Given the description of an element on the screen output the (x, y) to click on. 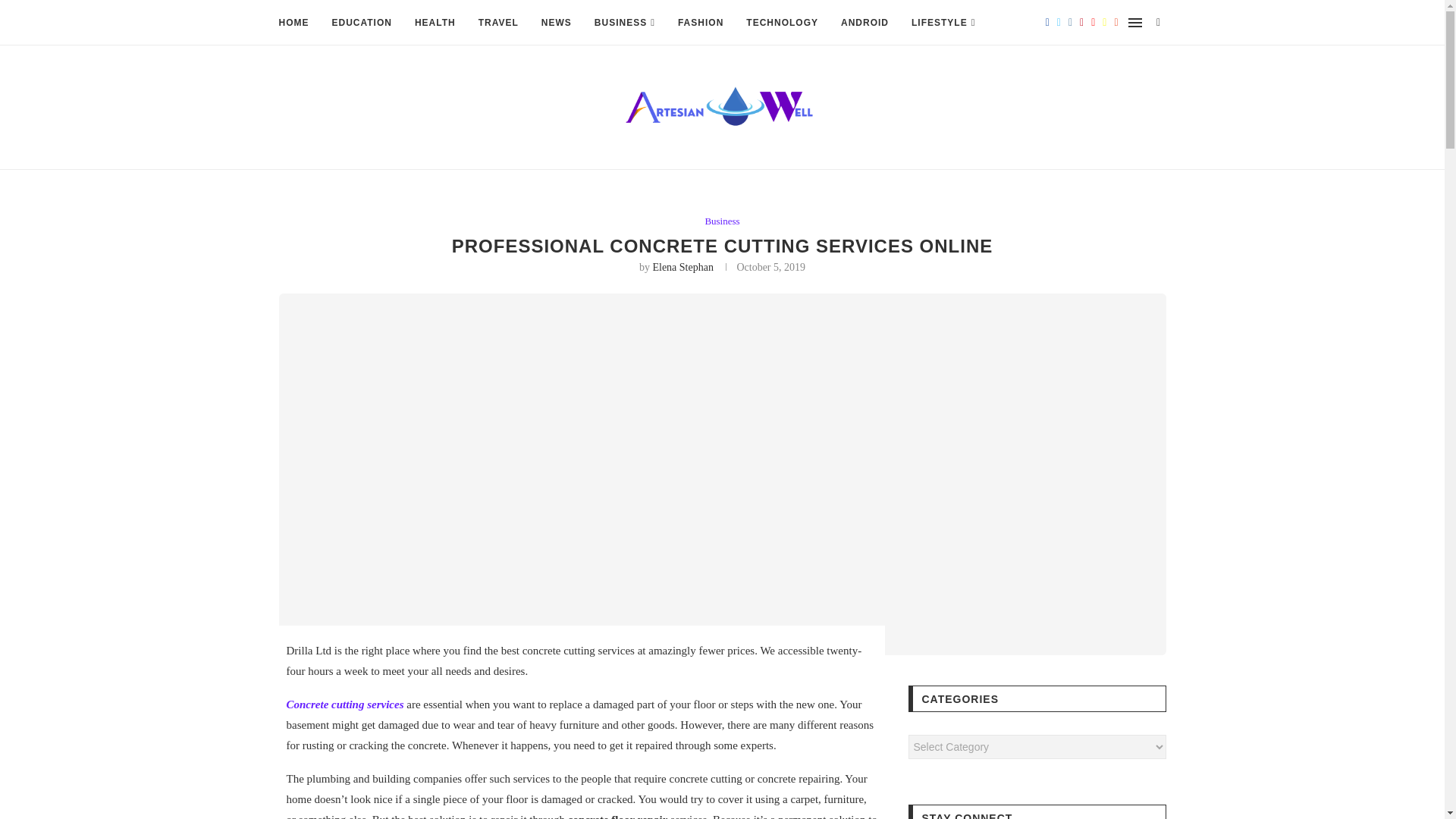
TRAVEL (498, 22)
ANDROID (864, 22)
Concrete cutting services (345, 704)
BUSINESS (624, 22)
Business (721, 221)
HEALTH (434, 22)
FASHION (700, 22)
TECHNOLOGY (781, 22)
EDUCATION (361, 22)
Elena Stephan (682, 266)
